Given the description of an element on the screen output the (x, y) to click on. 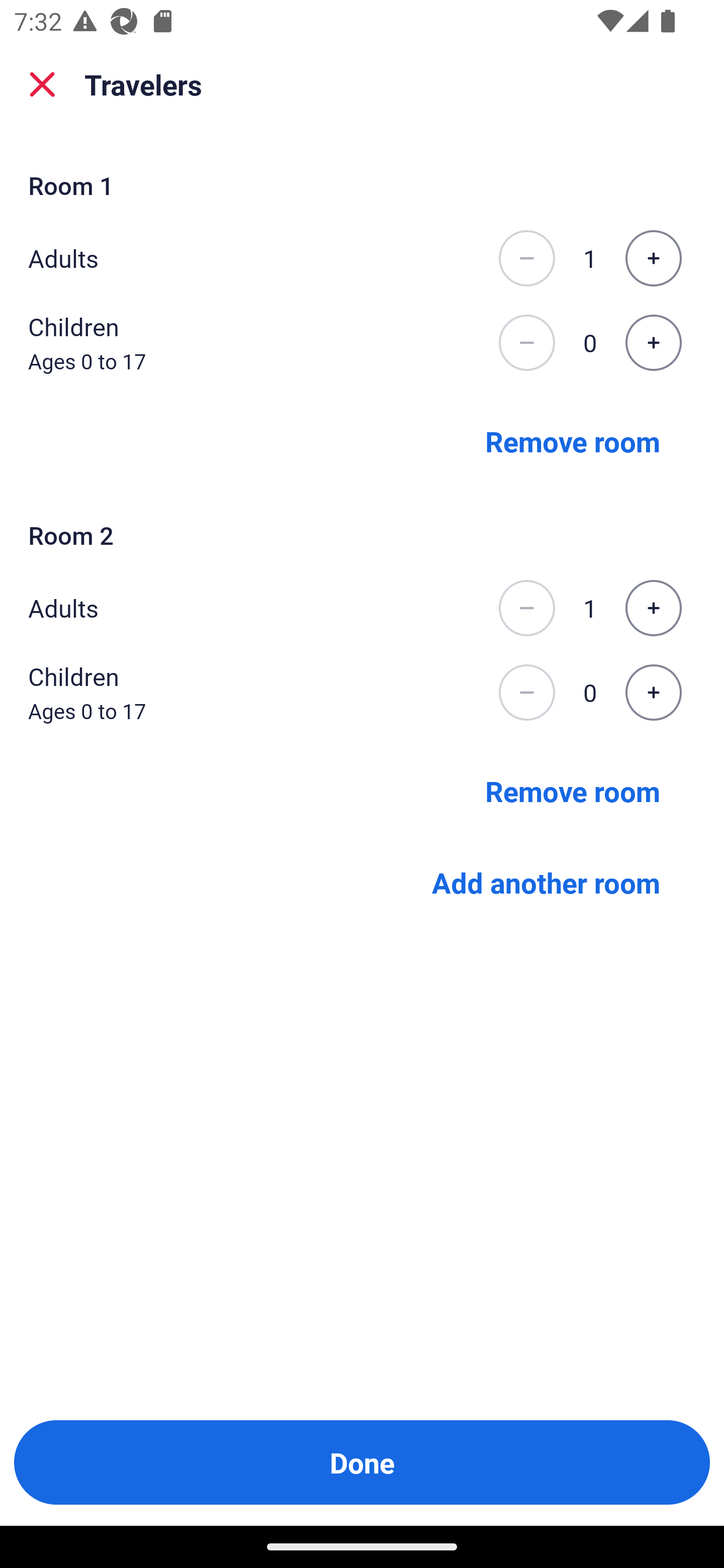
close (42, 84)
Decrease the number of adults (526, 258)
Increase the number of adults (653, 258)
Decrease the number of children (526, 343)
Increase the number of children (653, 343)
Remove room (572, 440)
Decrease the number of adults (526, 608)
Increase the number of adults (653, 608)
Decrease the number of children (526, 692)
Increase the number of children (653, 692)
Remove room (572, 790)
Add another room (545, 882)
Done (361, 1462)
